Given the description of an element on the screen output the (x, y) to click on. 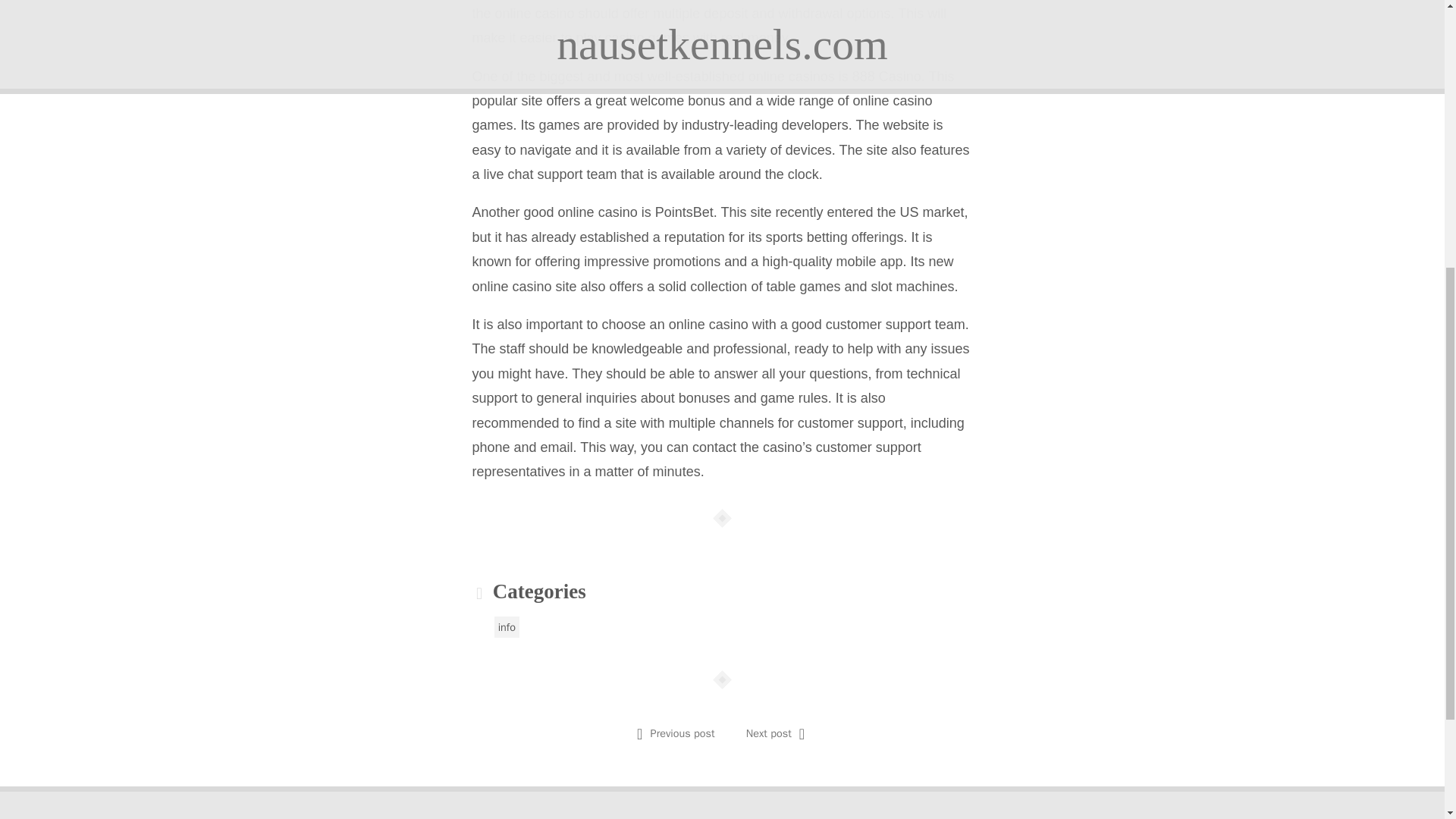
Next post (768, 733)
info (507, 627)
Previous post (682, 733)
